Given the description of an element on the screen output the (x, y) to click on. 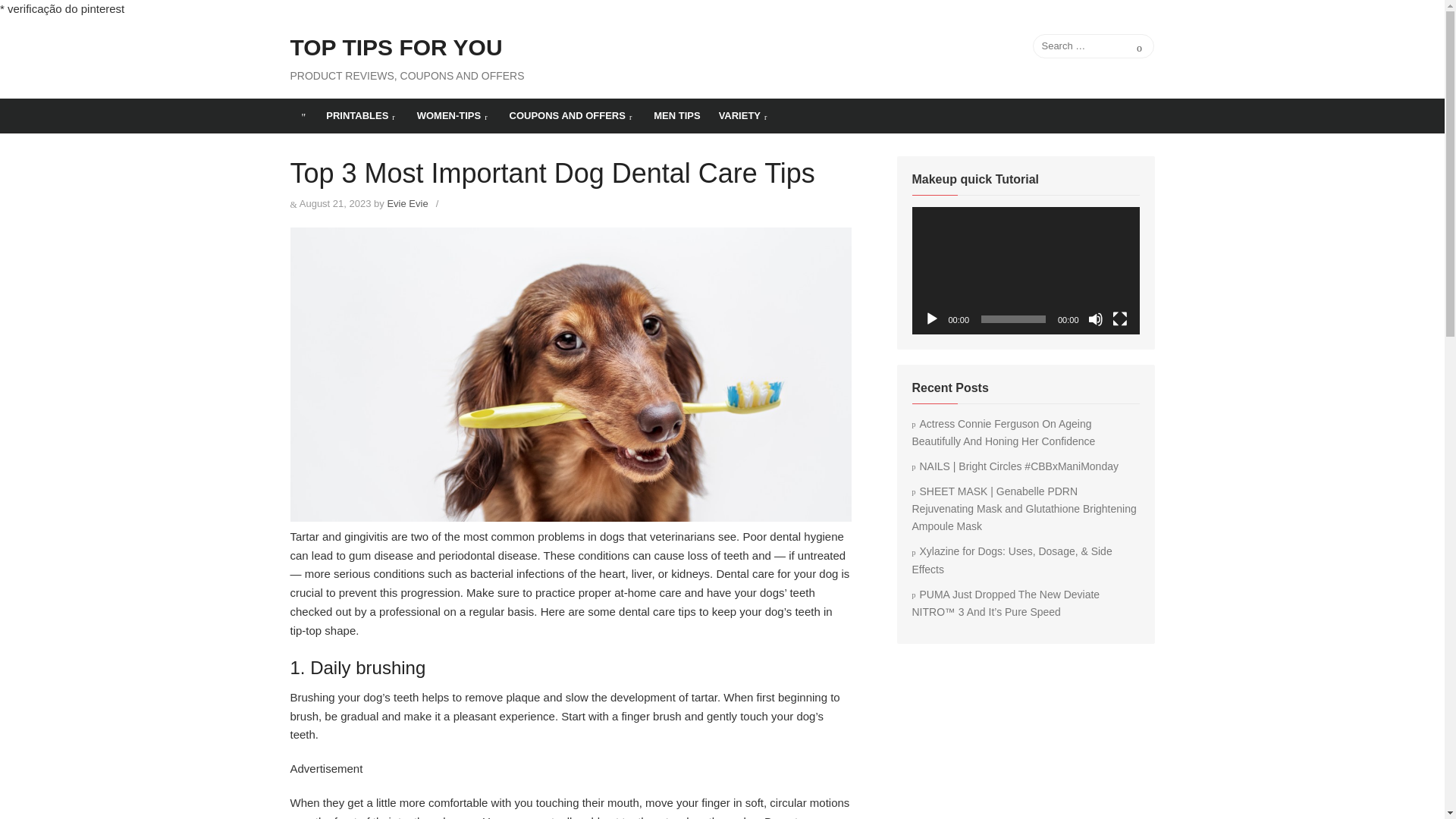
PRINTABLES (362, 115)
COUPONS AND OFFERS (572, 115)
WOMEN-TIPS (453, 115)
TOP TIPS FOR YOU (395, 47)
Search (1139, 45)
TOP TIPS FOR YOU (303, 115)
Fullscreen (1119, 319)
Mute (1094, 319)
Play (931, 319)
